Given the description of an element on the screen output the (x, y) to click on. 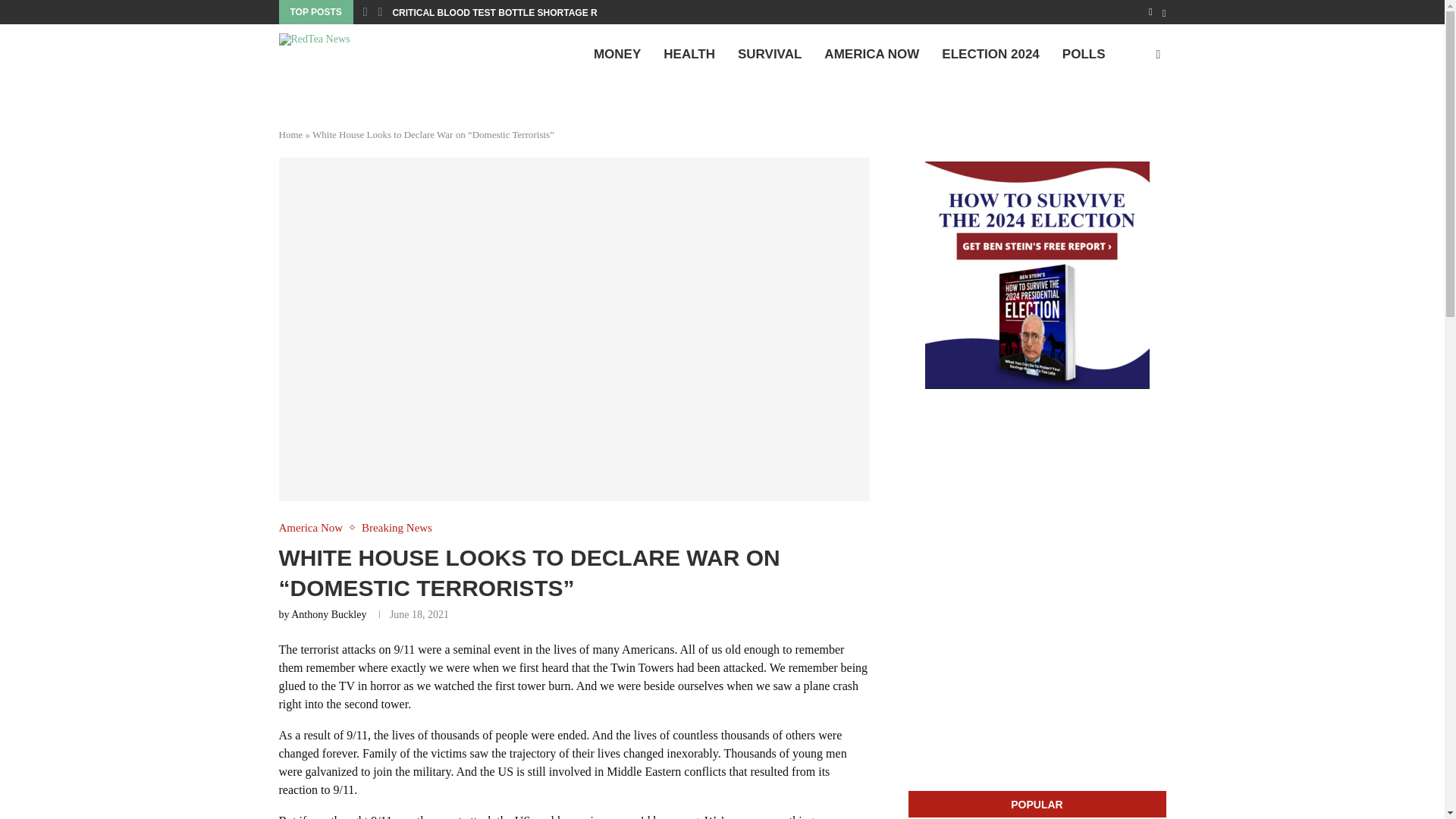
MONEY (617, 54)
POLLS (1083, 54)
ELECTION 2024 (990, 54)
Anthony Buckley (328, 614)
HEALTH (689, 54)
America Now (314, 527)
SURVIVAL (769, 54)
Home (290, 134)
AMERICA NOW (871, 54)
Breaking News (396, 527)
CRITICAL BLOOD TEST BOTTLE SHORTAGE REPORTED BY CDC (534, 12)
